Given the description of an element on the screen output the (x, y) to click on. 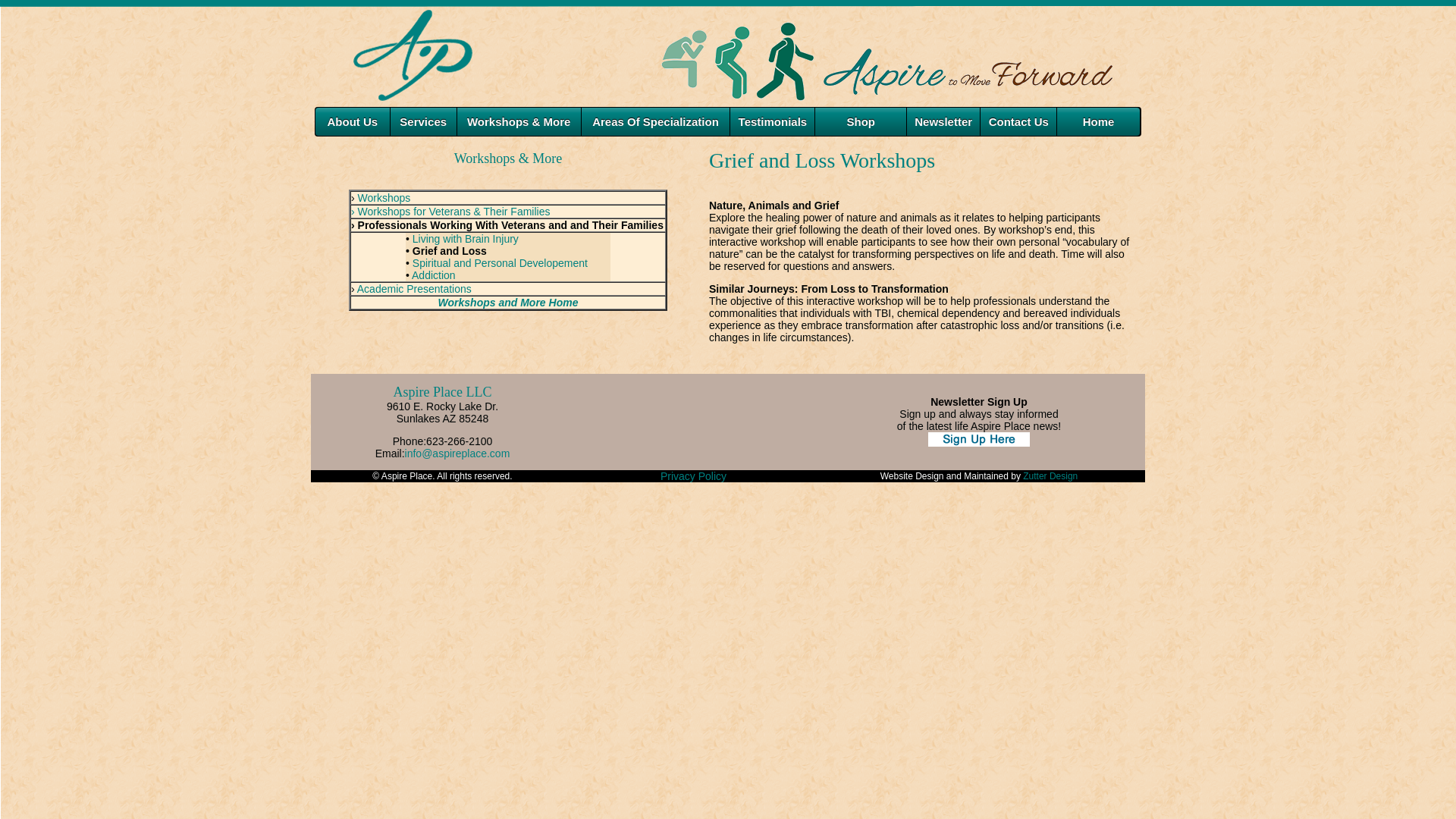
About Us (352, 121)
Newsletter (943, 121)
Testimonials (771, 121)
Home (1098, 121)
Workshops (384, 197)
Living with Brain Injury (465, 238)
Areas Of Specialization (655, 121)
Addiction (433, 275)
Academic Presentations (413, 288)
Workshops and More Home (508, 302)
Contact Us (1018, 121)
Services (423, 121)
Shop (860, 121)
Spiritual and Personal Developement (500, 263)
